Given the description of an element on the screen output the (x, y) to click on. 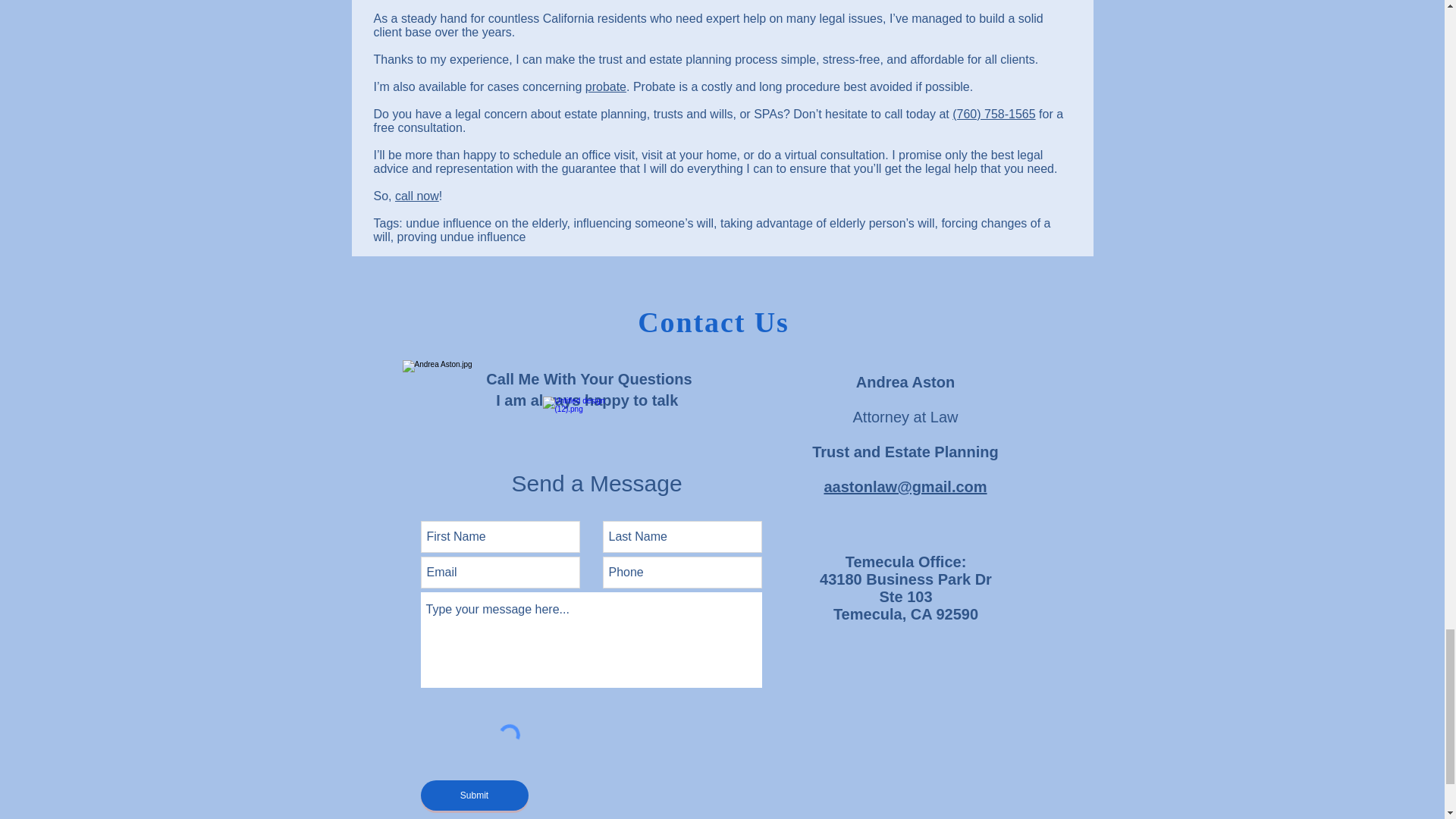
Submit (473, 795)
probate (605, 86)
call now (416, 195)
